Given the description of an element on the screen output the (x, y) to click on. 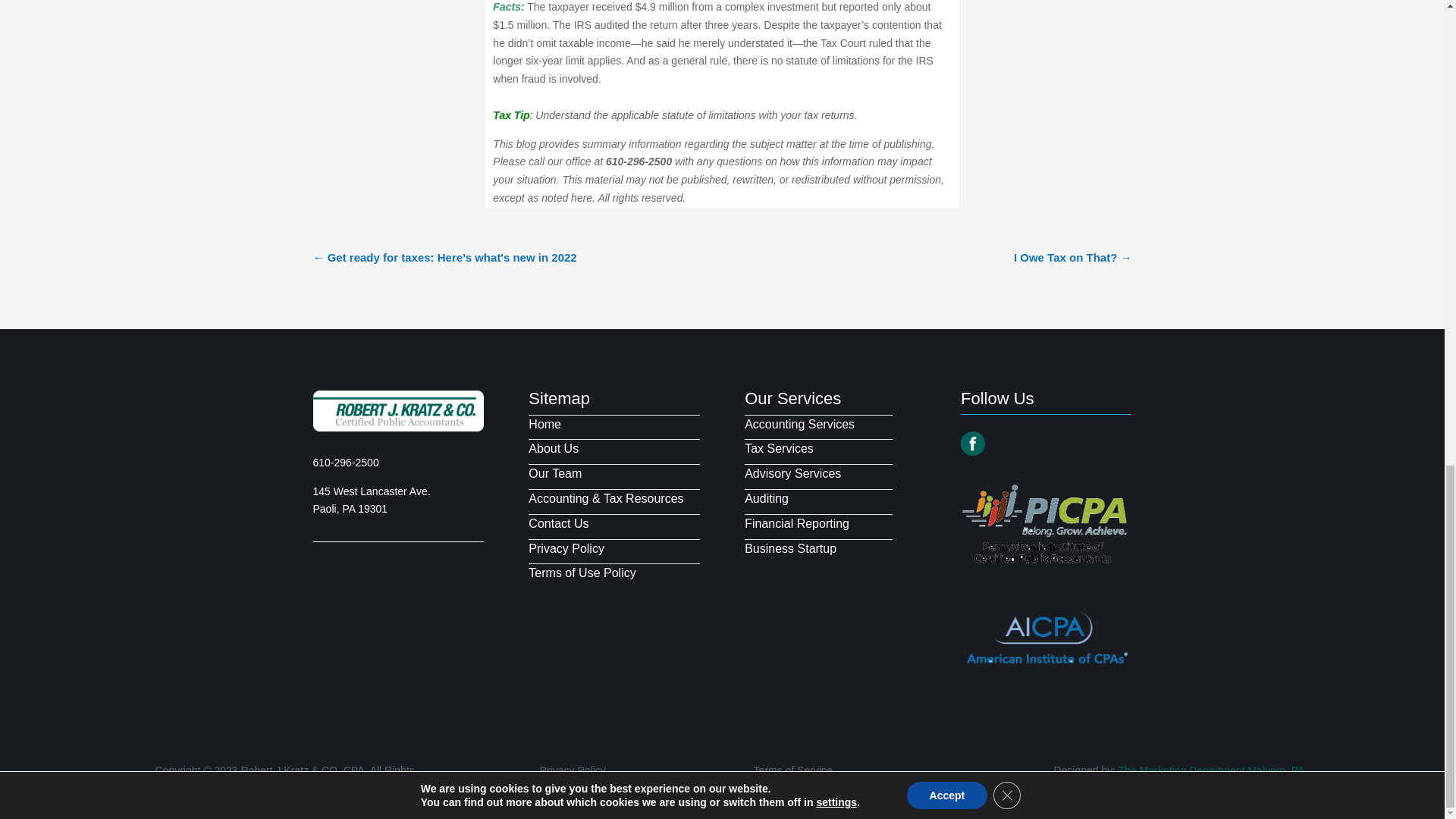
logo-partner-aicpa (1045, 636)
PICPA transparent3 (1045, 523)
